Given the description of an element on the screen output the (x, y) to click on. 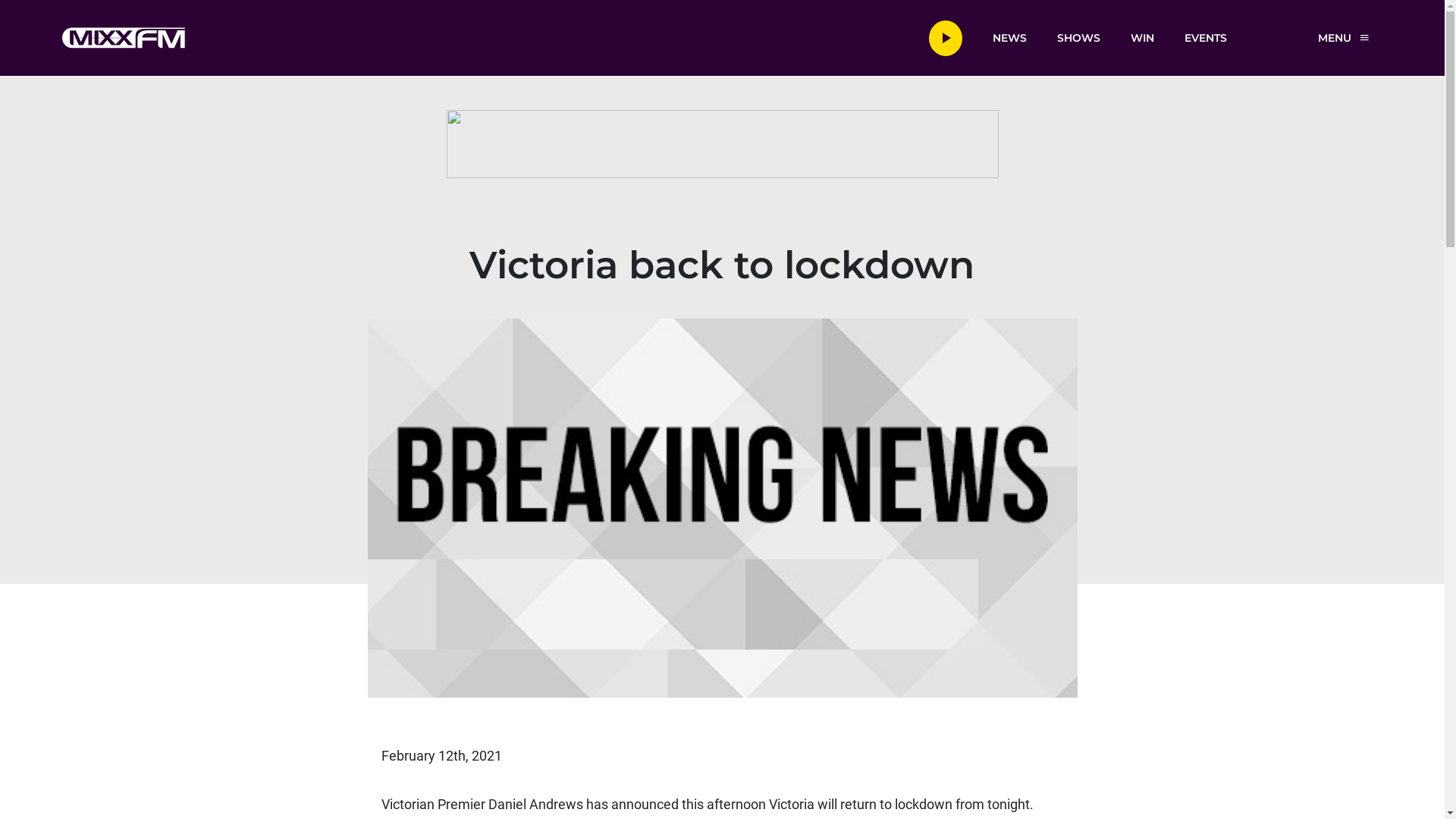
EVENTS Element type: text (1205, 36)
SHOWS Element type: text (1078, 36)
WIN Element type: text (1141, 36)
NEWS Element type: text (1008, 36)
